Given the description of an element on the screen output the (x, y) to click on. 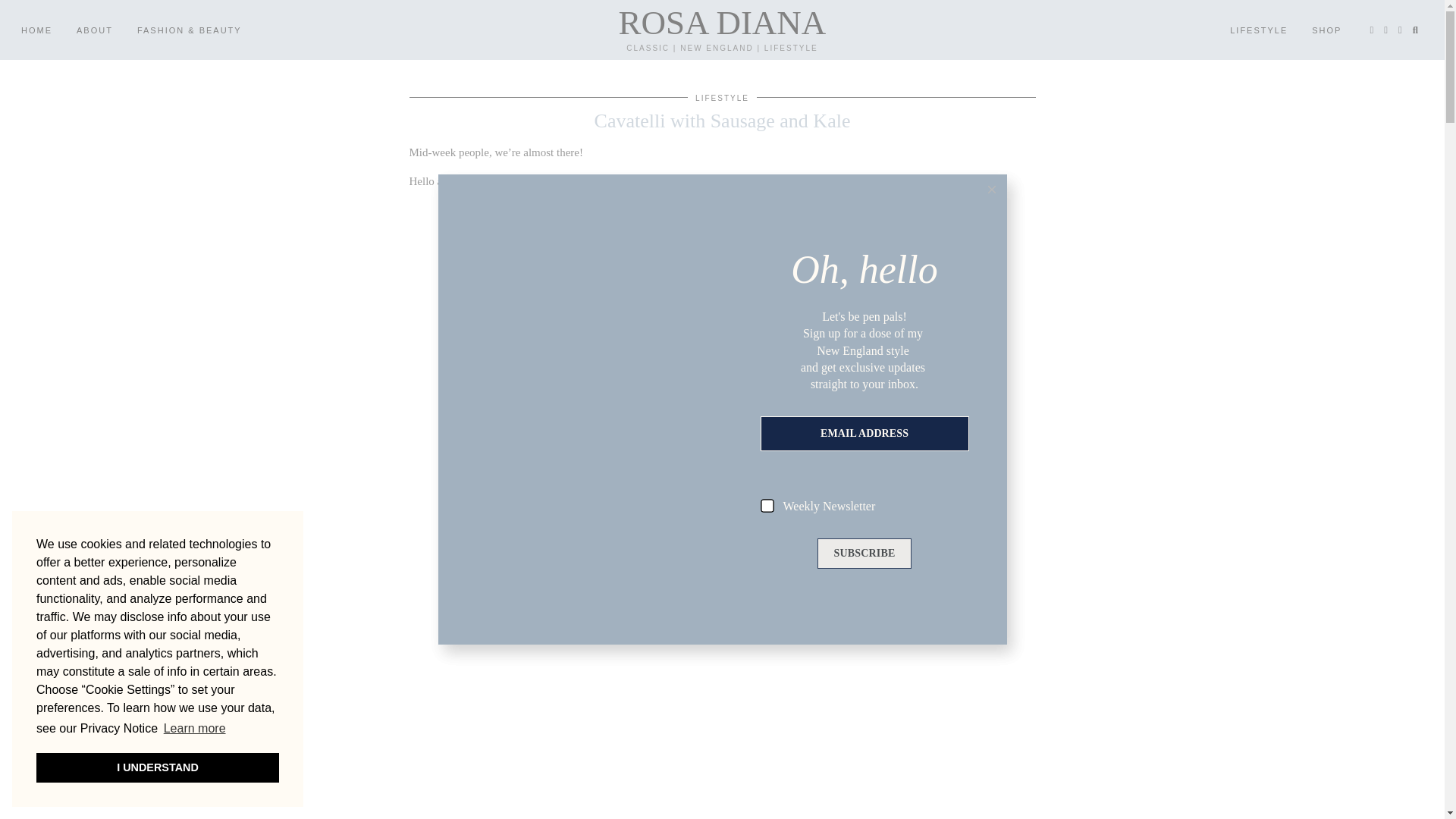
Rosa  Diana (721, 22)
Learn more (194, 728)
ABOUT (94, 29)
I UNDERSTAND (157, 767)
HOME (36, 29)
